Given the description of an element on the screen output the (x, y) to click on. 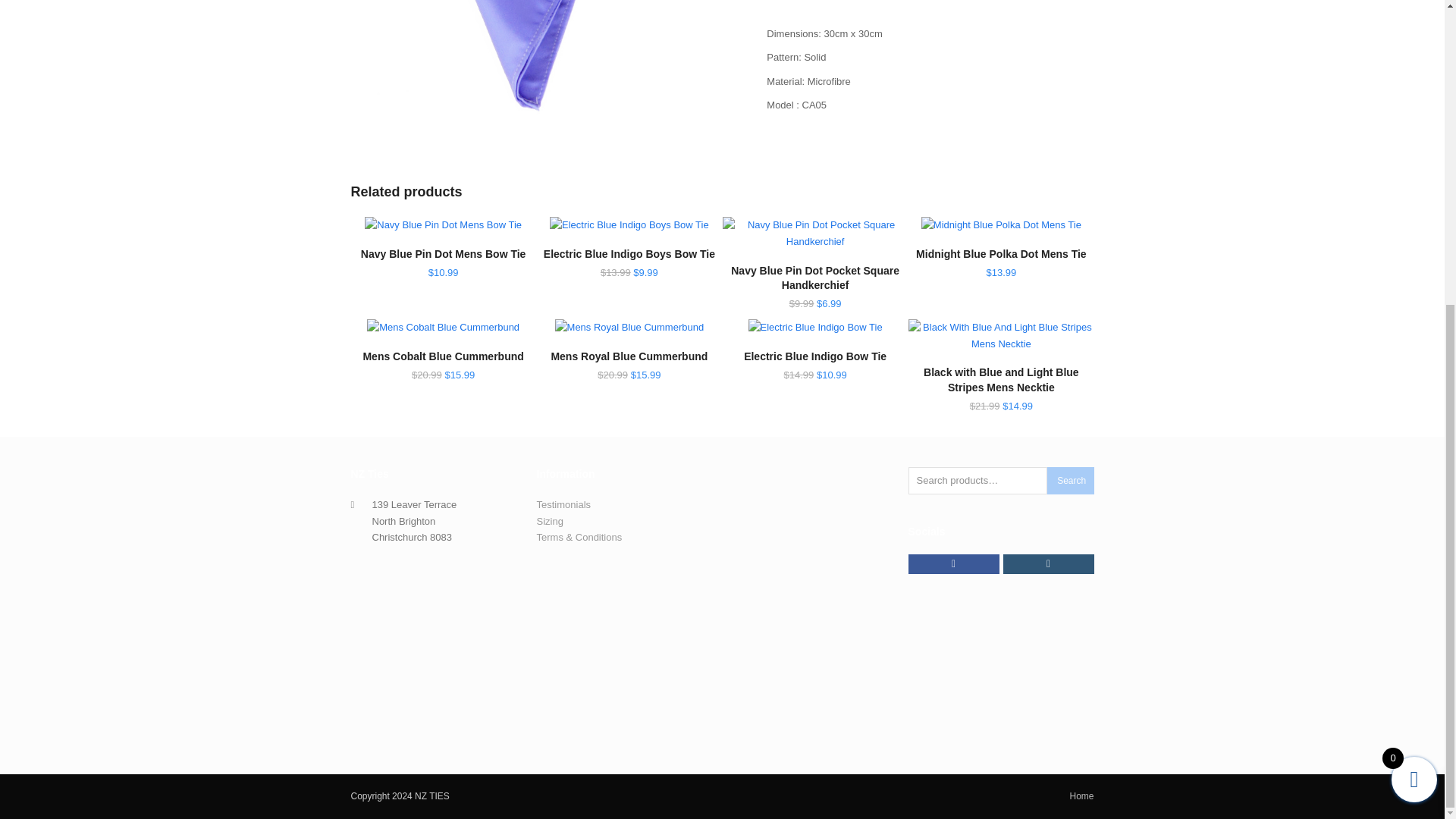
cornflower-blue-pocket-square (543, 61)
Sizing Information (550, 521)
Facebook (953, 564)
Instagram (1048, 564)
Testimonials (564, 504)
